Given the description of an element on the screen output the (x, y) to click on. 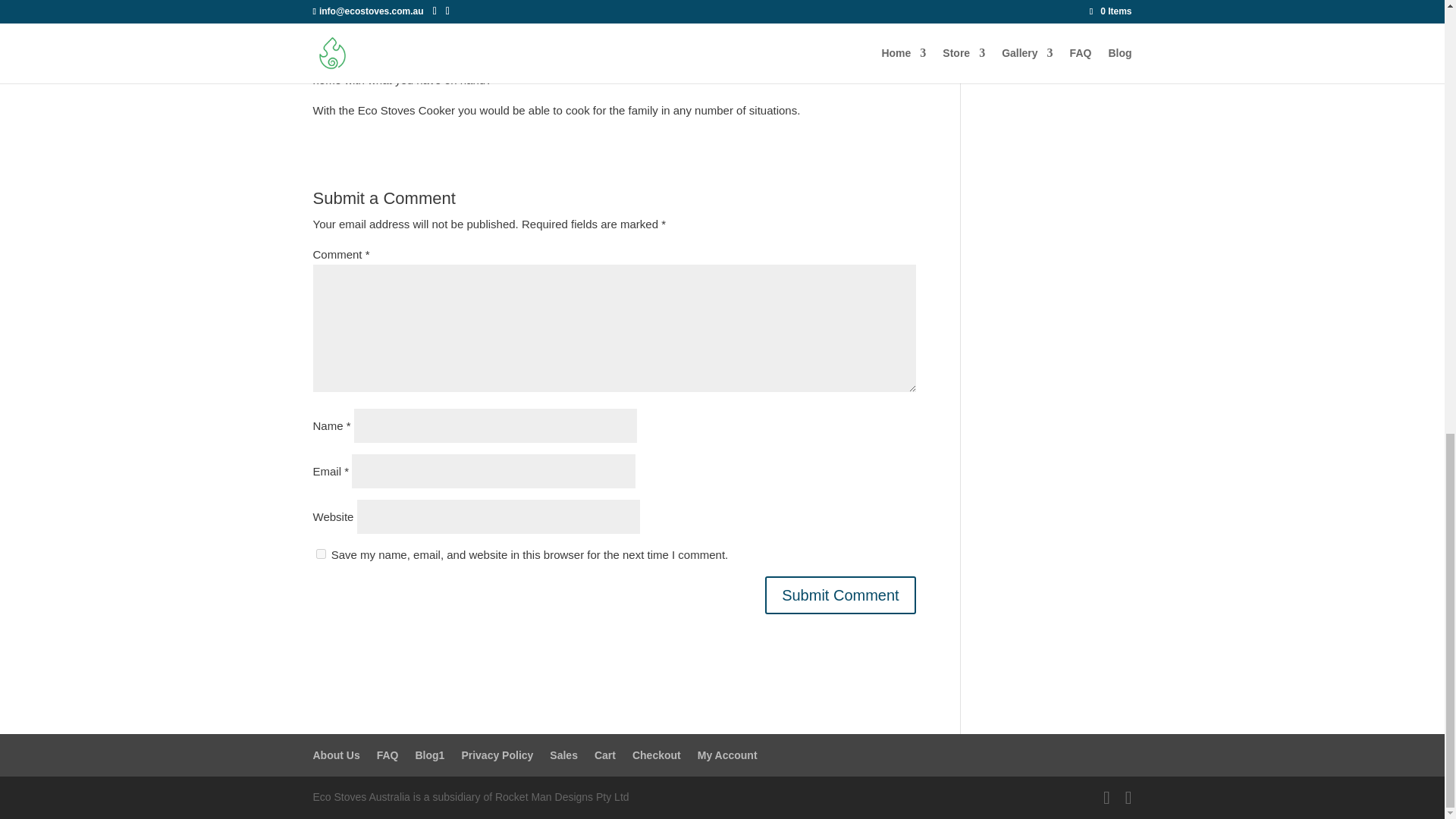
Sales (564, 755)
Submit Comment (840, 595)
Blog1 (429, 755)
Privacy Policy (496, 755)
Cart (604, 755)
My Account (727, 755)
Checkout (656, 755)
Submit Comment (840, 595)
FAQ (387, 755)
About Us (336, 755)
yes (319, 553)
